Given the description of an element on the screen output the (x, y) to click on. 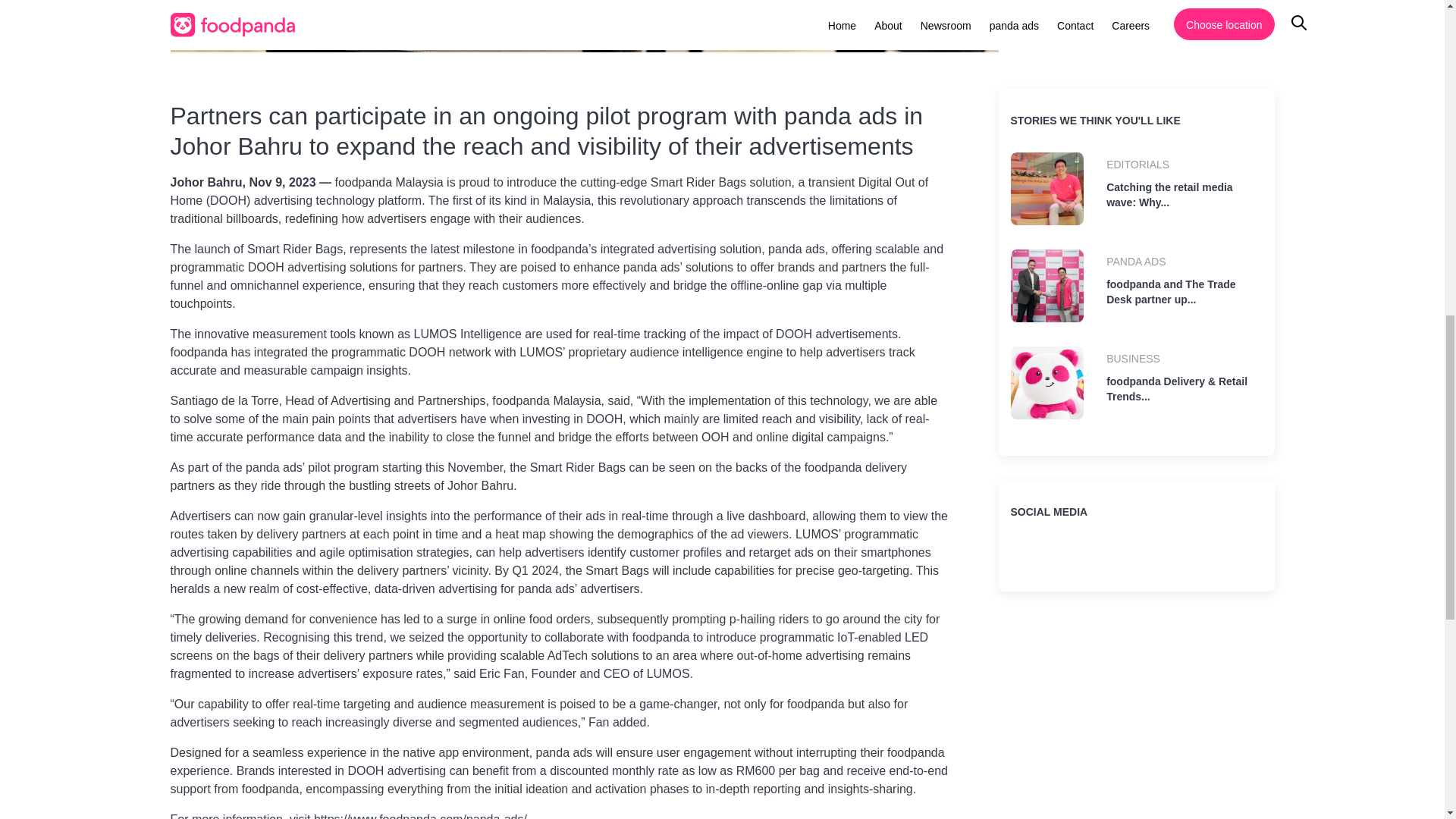
foodpanda facebook (1104, 558)
foodpanda linkedin (1025, 558)
foodpanda instagram (1064, 558)
